Given the description of an element on the screen output the (x, y) to click on. 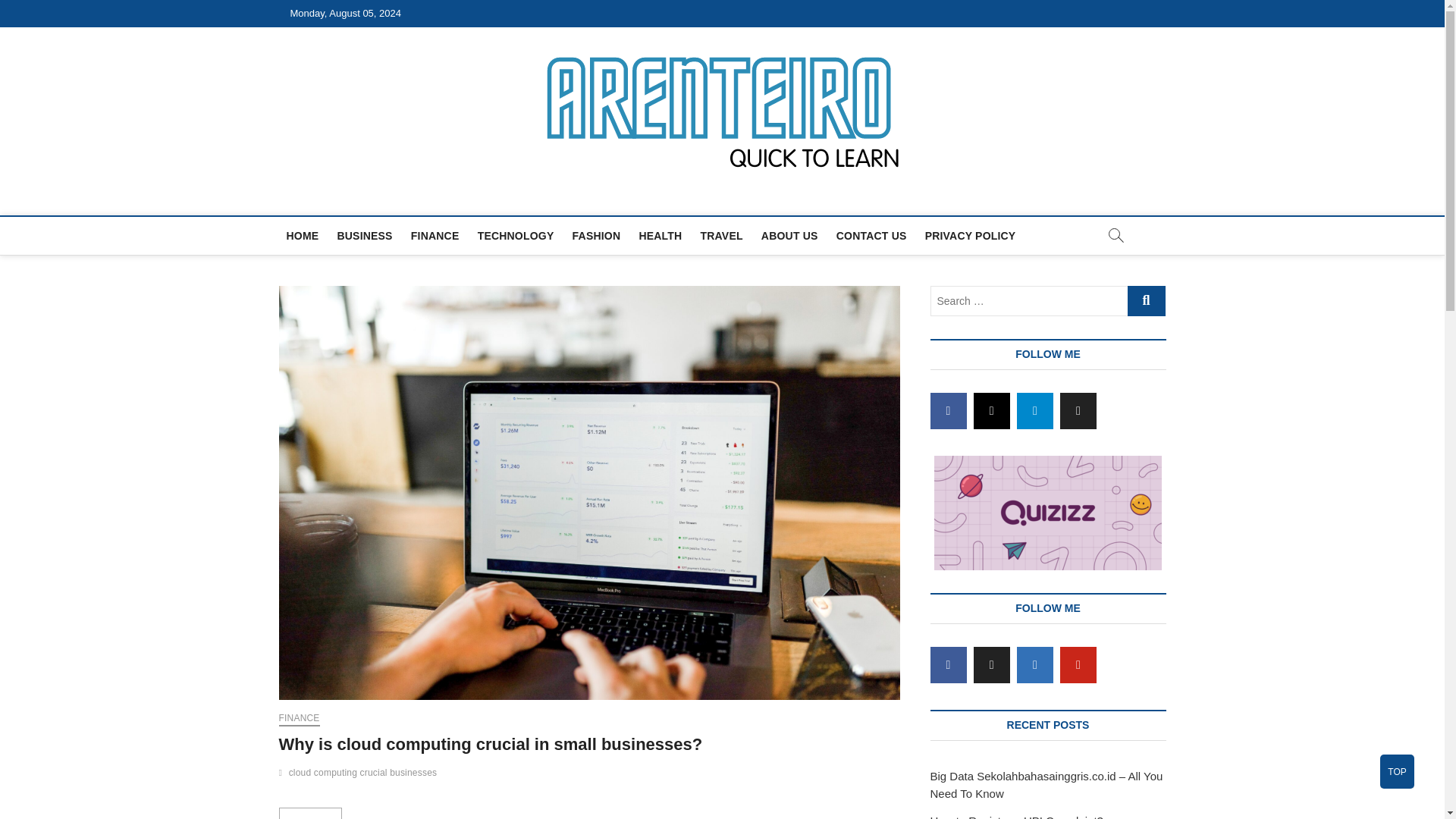
FASHION (596, 235)
Facebook (948, 411)
Arenteiro (341, 197)
facebook (948, 665)
facebook (948, 411)
CONTACT US (871, 235)
Facebook (948, 665)
PRIVACY POLICY (970, 235)
ABOUT US (789, 235)
HEALTH (659, 235)
HOME (302, 235)
pinterest (1077, 665)
How to Register a UPI Complaint? (1016, 816)
FINANCE (435, 235)
Arenteiro (341, 197)
